Given the description of an element on the screen output the (x, y) to click on. 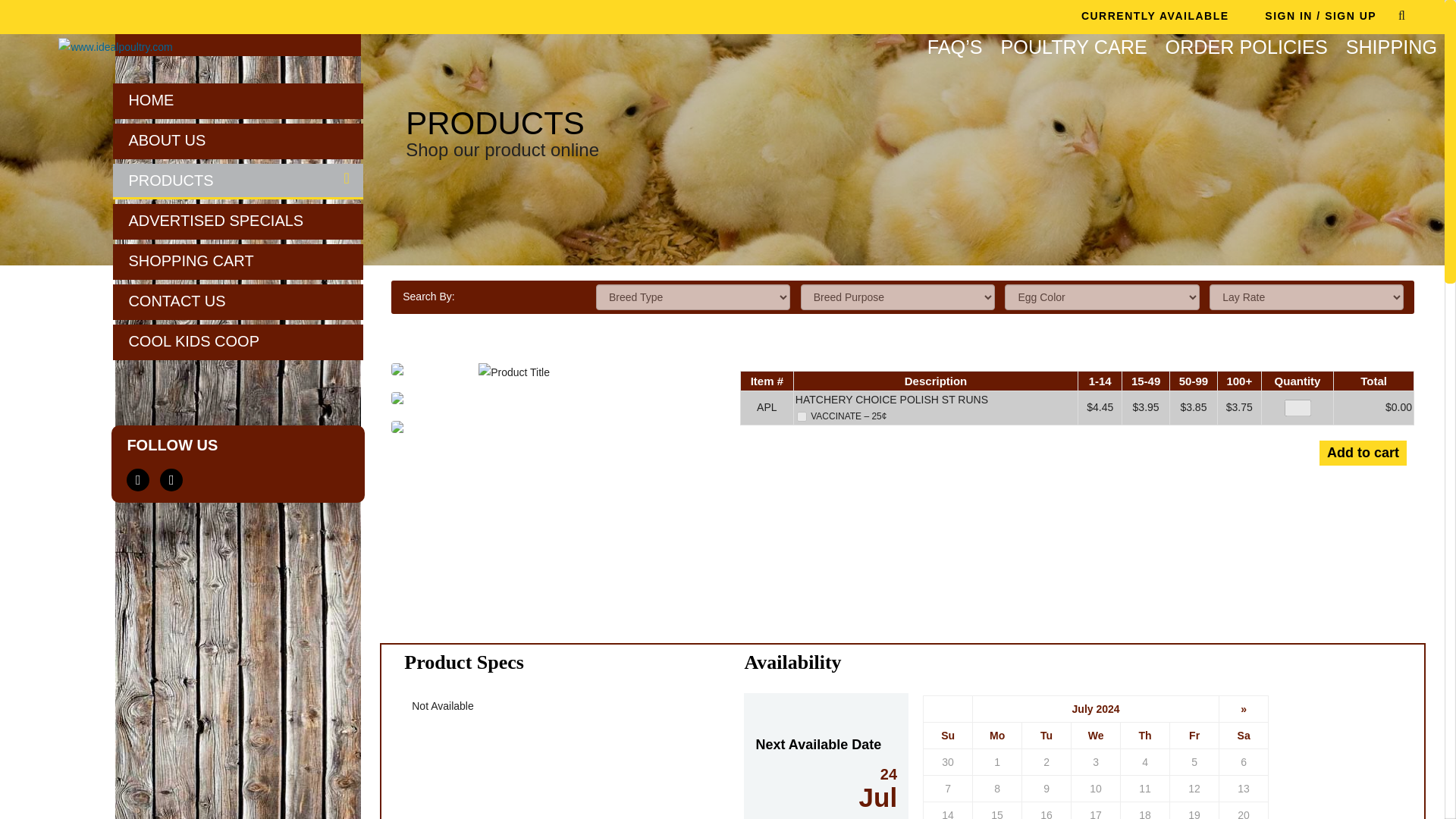
ABOUT US (237, 140)
PRODUCTS (237, 180)
HOME (237, 100)
VAC (801, 416)
